Given the description of an element on the screen output the (x, y) to click on. 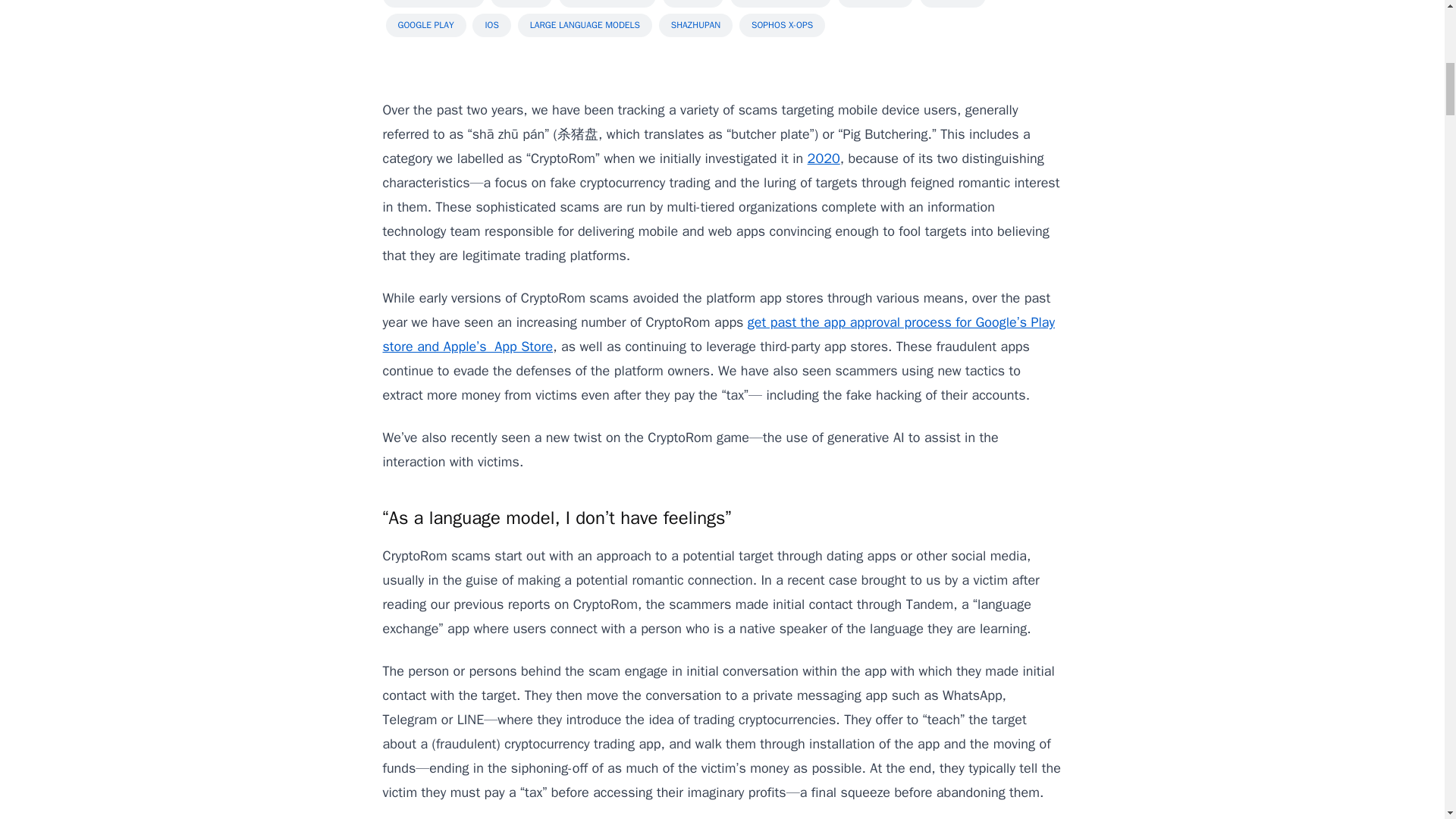
IOS (491, 24)
CHATGPT (692, 3)
LARGE LANGUAGE MODELS (585, 24)
SOPHOS X-OPS (782, 24)
ANDROID (520, 3)
CRYPTOROM (875, 3)
APPLE APP STORE (607, 3)
SHAZHUPAN (695, 24)
GOOGLE PLAY (425, 24)
THREAT RESEARCH (432, 3)
2020 (824, 158)
FEATURED (952, 3)
CRYPTOCURRENCY (780, 3)
